Given the description of an element on the screen output the (x, y) to click on. 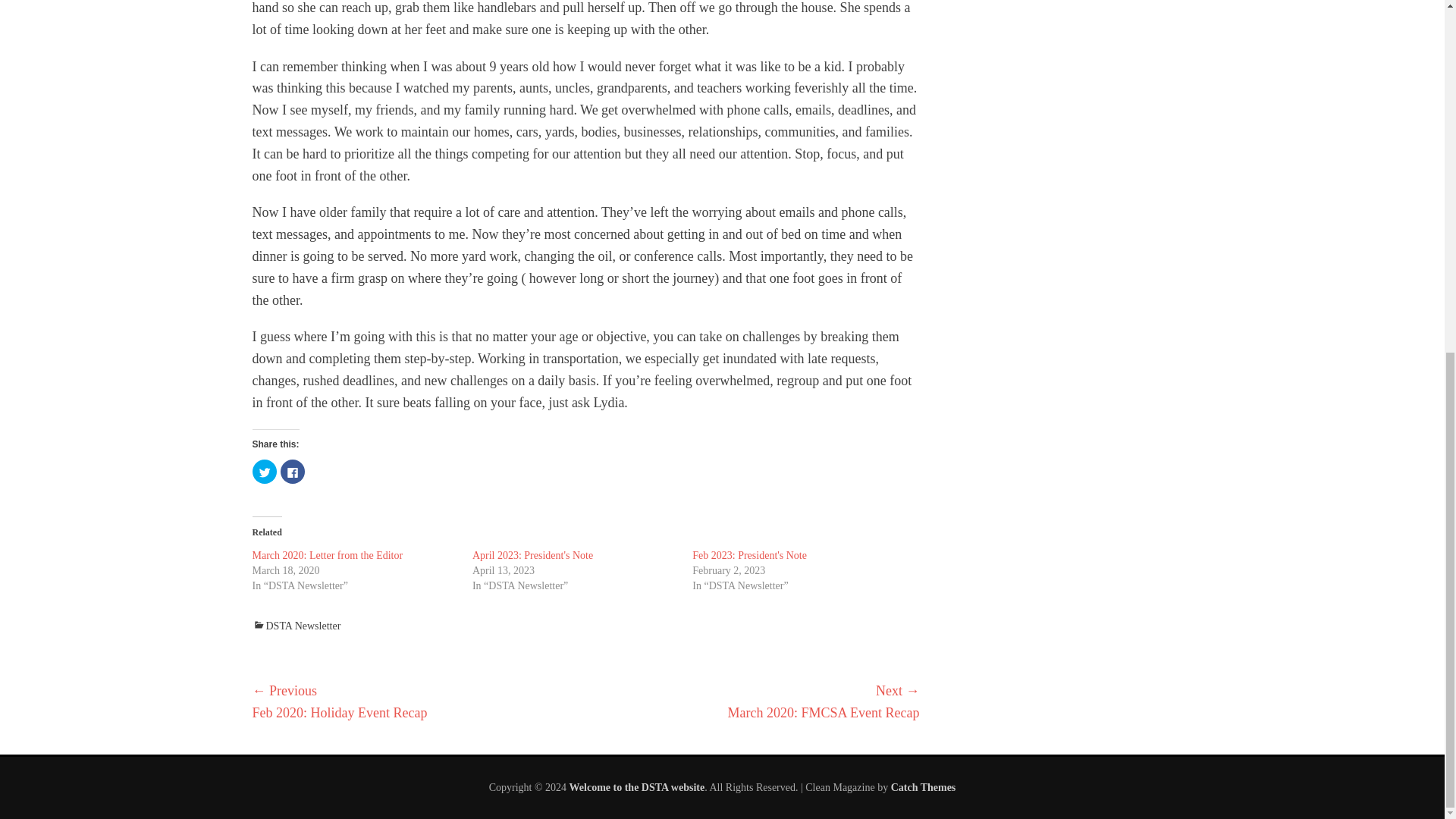
Click to share on Facebook (292, 471)
April 2023: President's Note (531, 555)
Click to share on Twitter (263, 471)
Catch Themes (923, 787)
Welcome to the DSTA website (636, 787)
Feb 2023: President's Note (749, 555)
DSTA Newsletter (295, 625)
March 2020: Letter from the Editor (327, 555)
